Given the description of an element on the screen output the (x, y) to click on. 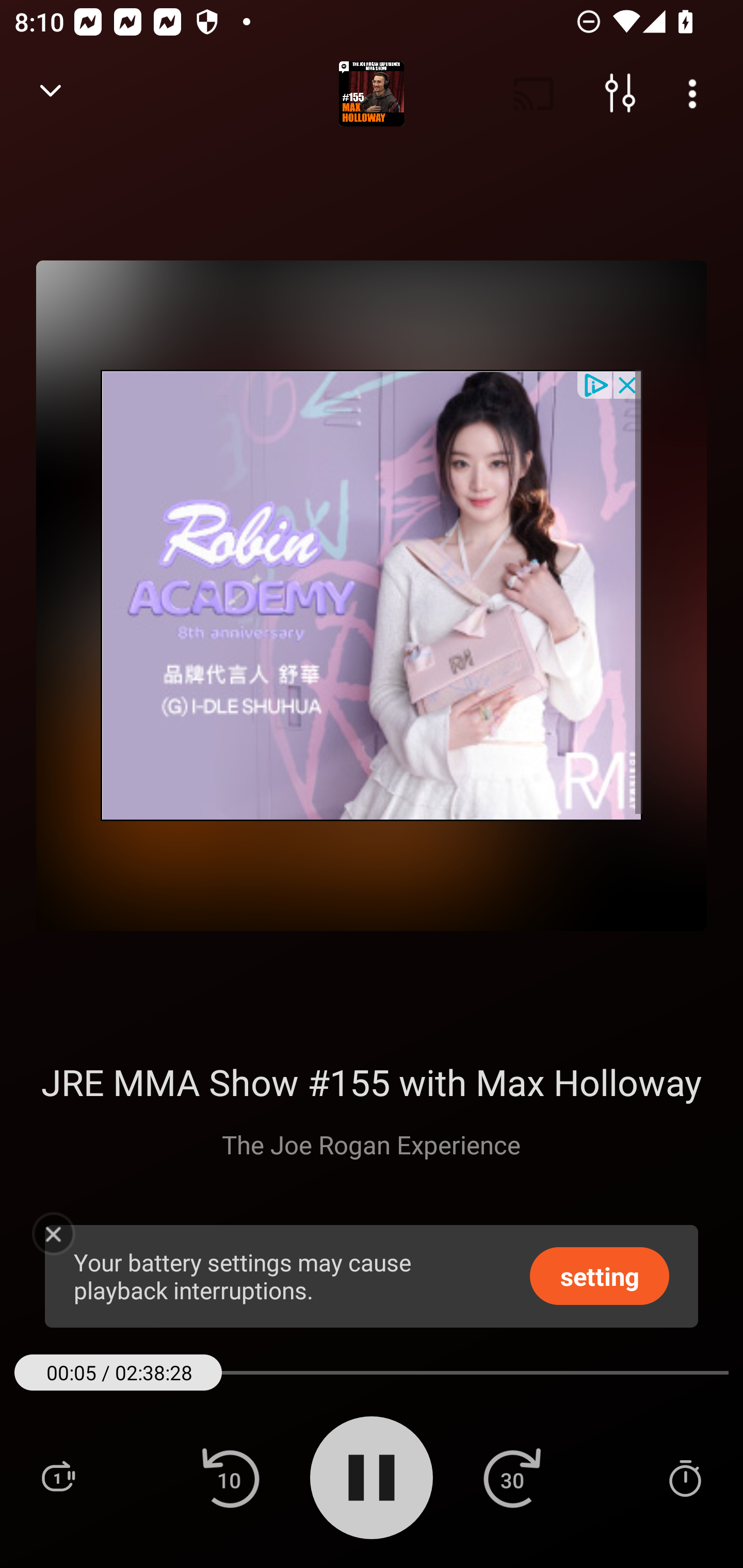
 Back (50, 94)
privacy_small (595, 384)
close_button (627, 384)
JRE MMA Show #155 with Max Holloway (370, 1081)
The Joe Rogan Experience (370, 1144)
setting (599, 1275)
 Playlist (57, 1477)
Sleep Timer  (684, 1477)
